Given the description of an element on the screen output the (x, y) to click on. 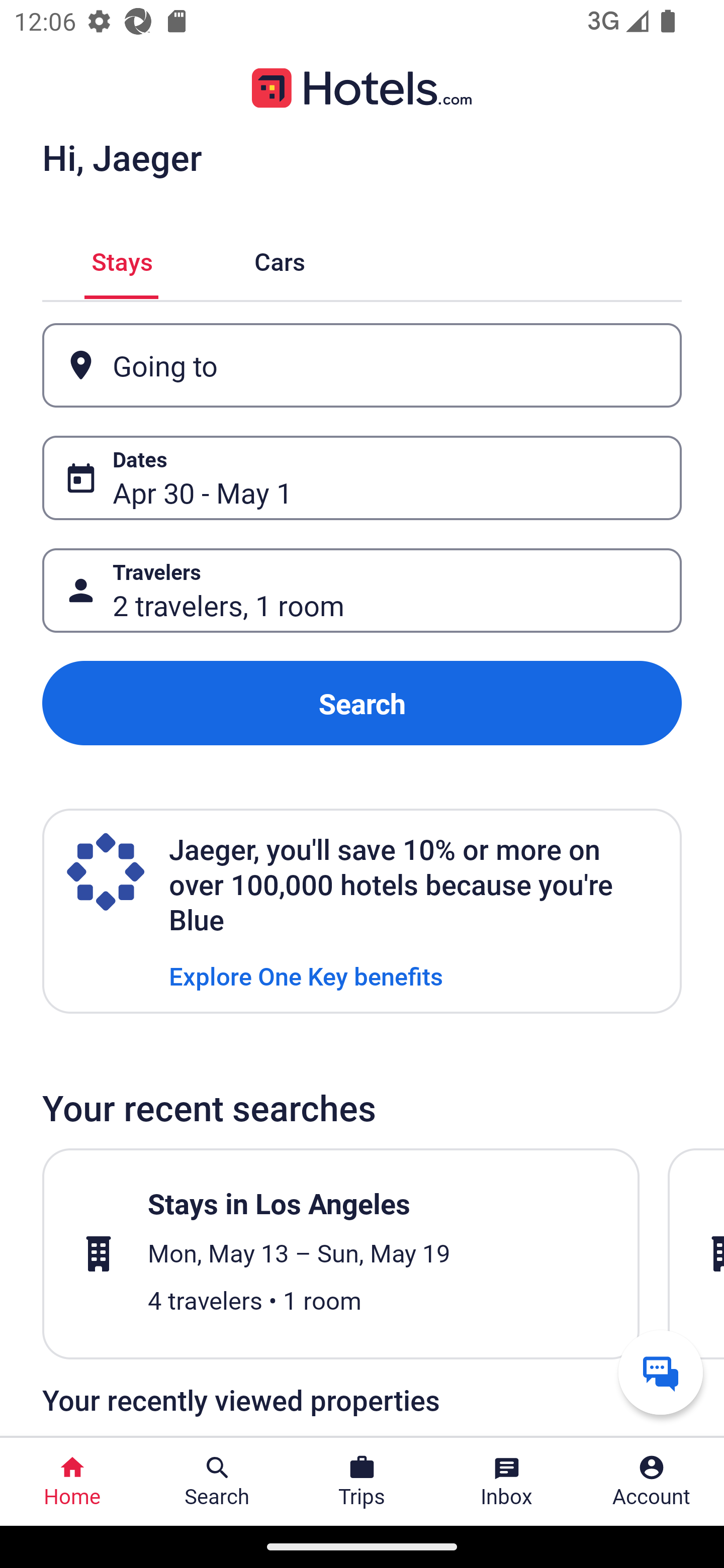
Hi, Jaeger (121, 156)
Cars (279, 259)
Going to Button (361, 365)
Dates Button Apr 30 - May 1 (361, 477)
Travelers Button 2 travelers, 1 room (361, 590)
Search (361, 702)
Get help from a virtual agent (660, 1371)
Search Search Button (216, 1481)
Trips Trips Button (361, 1481)
Inbox Inbox Button (506, 1481)
Account Profile. Button (651, 1481)
